Given the description of an element on the screen output the (x, y) to click on. 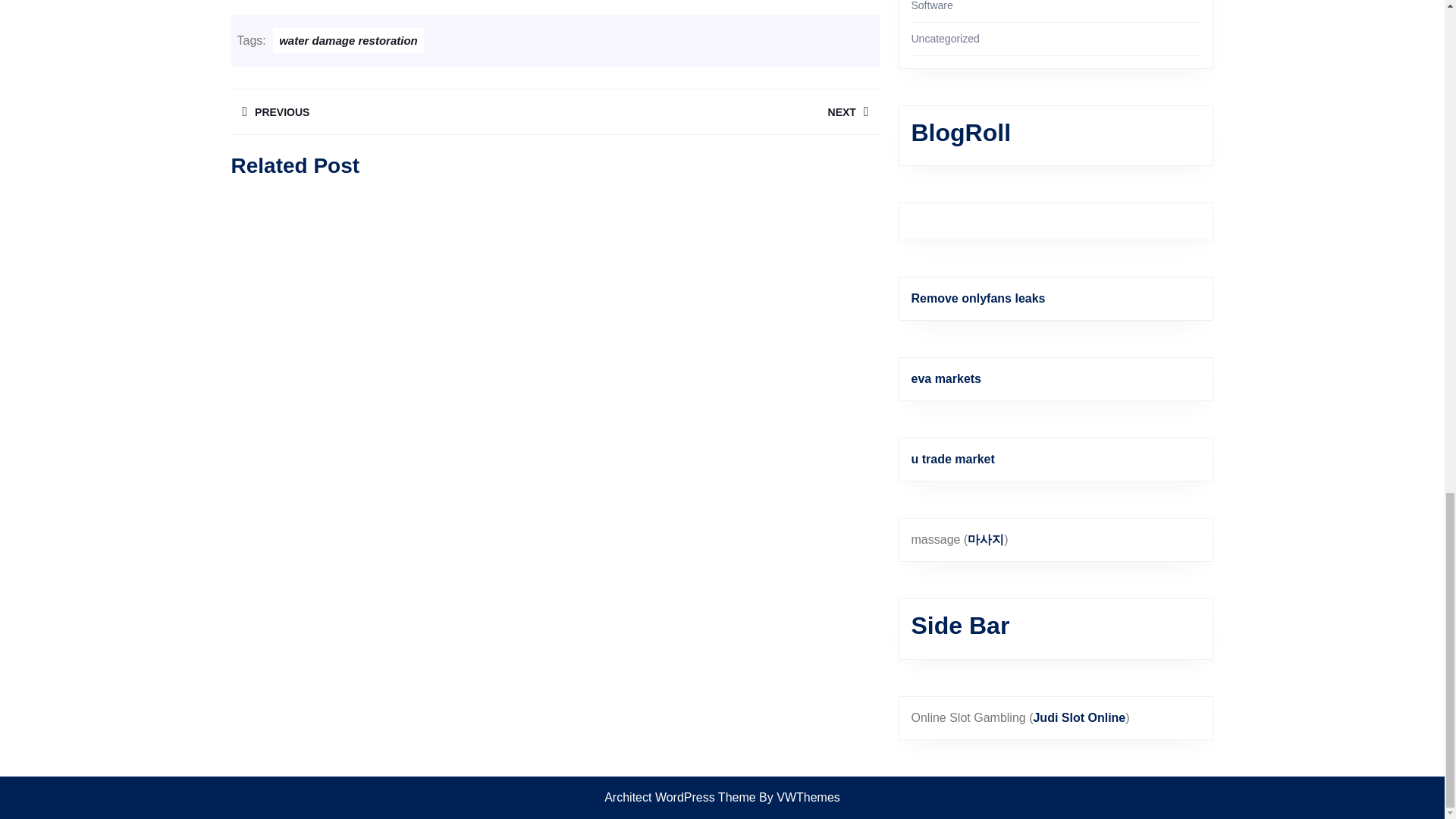
water damage restoration (348, 40)
